Given the description of an element on the screen output the (x, y) to click on. 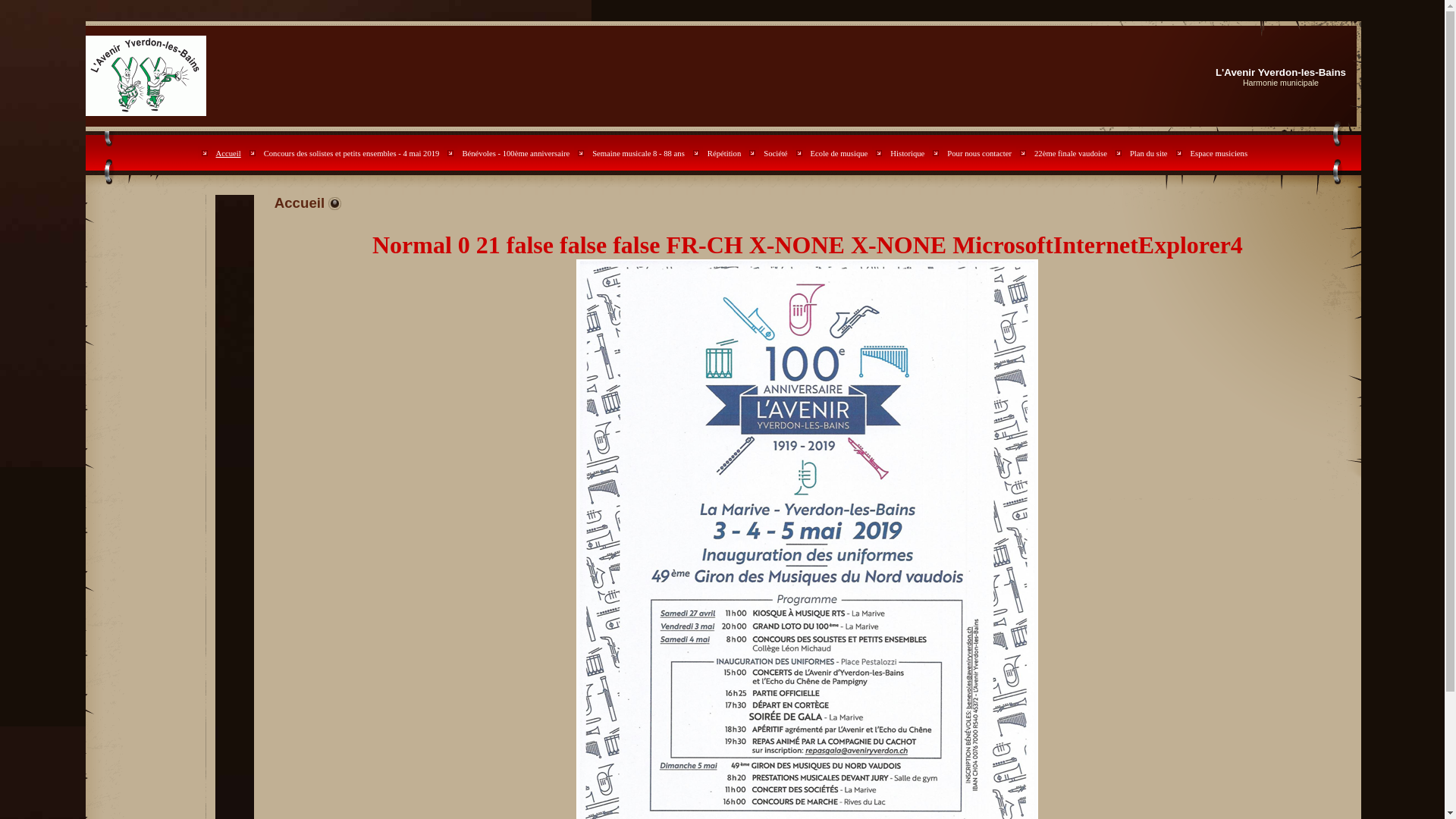
Semaine musicale 8 - 88 ans Element type: text (638, 152)
Espace musiciens Element type: text (1218, 152)
Concours des solistes et petits ensembles - 4 mai 2019 Element type: text (351, 152)
Pour nous contacter Element type: text (979, 152)
Accueil Element type: text (228, 152)
Plan du site Element type: text (1148, 152)
Historique Element type: text (907, 152)
Ecole de musique Element type: text (839, 152)
